Given the description of an element on the screen output the (x, y) to click on. 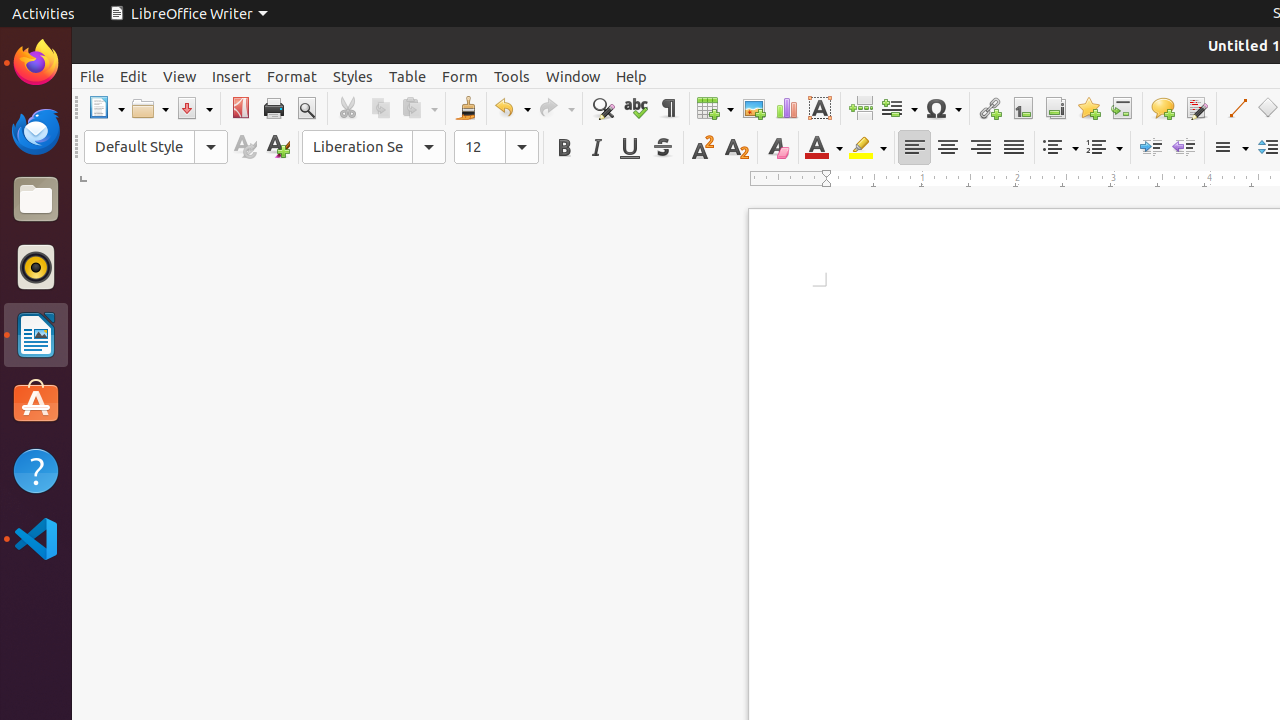
Right Element type: toggle-button (980, 147)
Numbering Element type: push-button (1104, 147)
Clone Element type: push-button (465, 108)
Find & Replace Element type: toggle-button (602, 108)
Ubuntu Software Element type: push-button (36, 402)
